Given the description of an element on the screen output the (x, y) to click on. 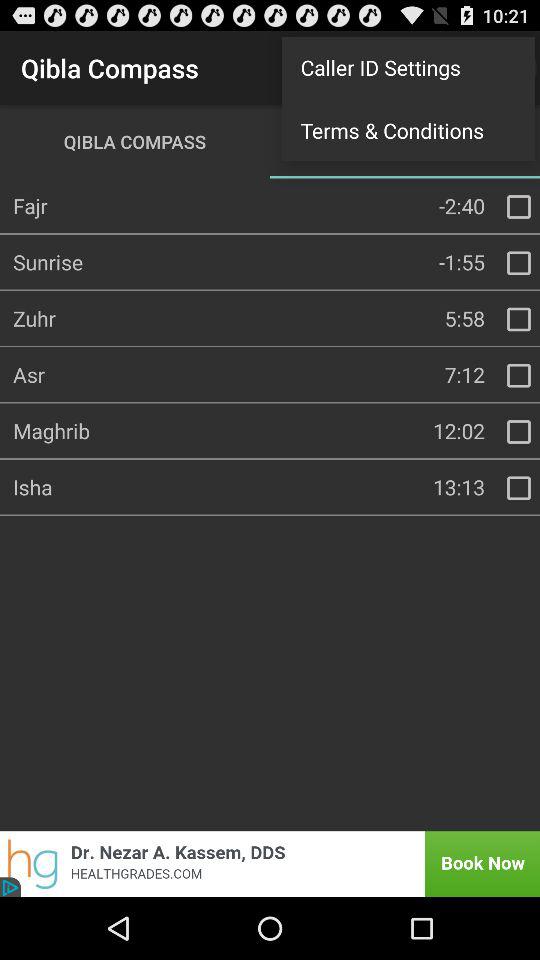
select option (519, 319)
